Given the description of an element on the screen output the (x, y) to click on. 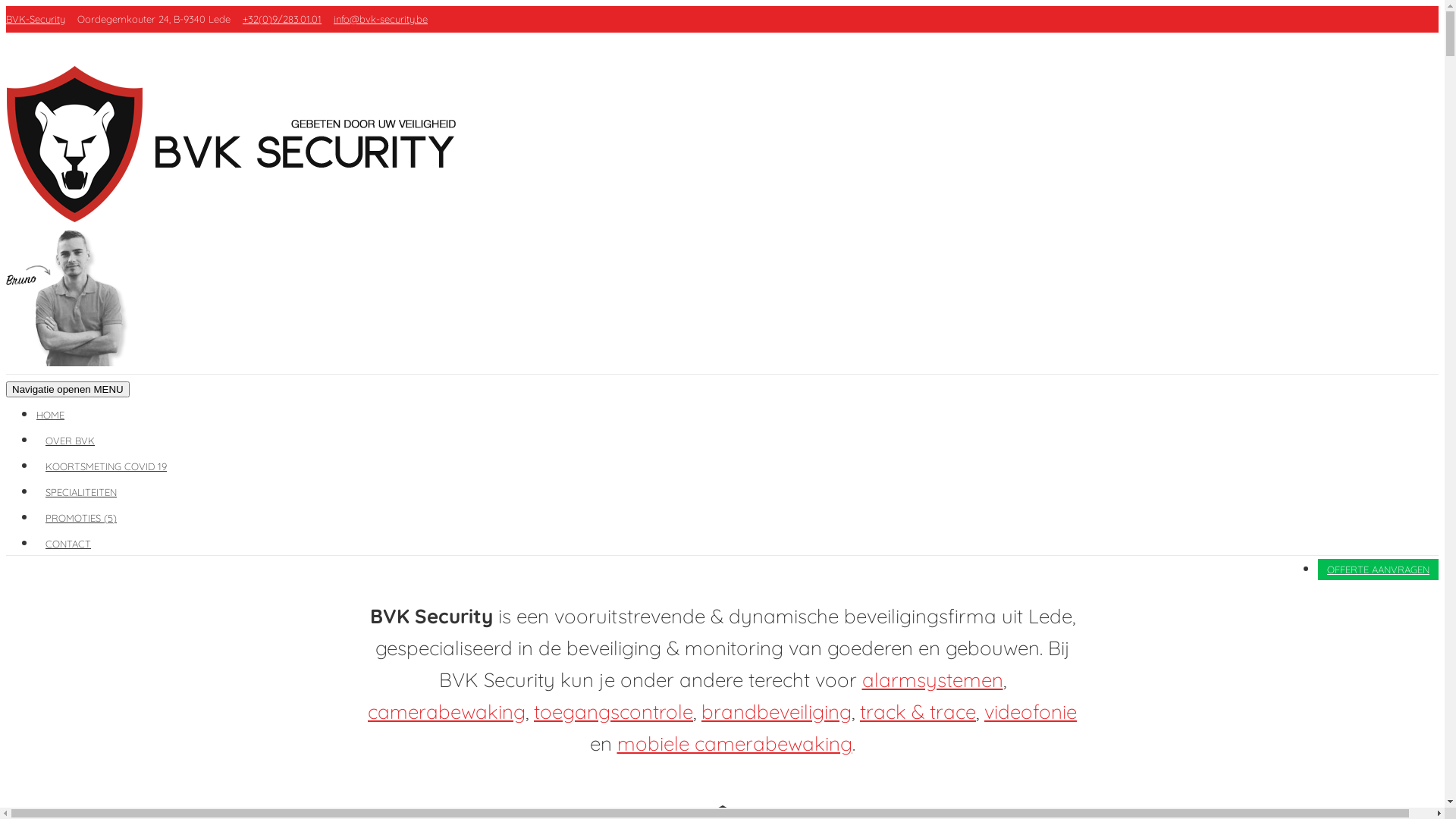
toegangscontrole Element type: text (613, 711)
SPECIALITEITEN Element type: text (80, 491)
PROMOTIES (5) Element type: text (80, 517)
mobiele camerabewaking Element type: text (734, 743)
BVK-Security Wetteren contacteren Element type: hover (75, 360)
CONTACT Element type: text (68, 543)
BVK-Security Beveiligingsfirma Wetteren Element type: hover (239, 216)
track & trace Element type: text (917, 711)
videofonie Element type: text (1030, 711)
+32(0)9/283.01.01 Element type: text (281, 18)
info@bvk-security.be Element type: text (380, 18)
BVK-Security Element type: text (35, 18)
Navigatie openen MENU Element type: text (67, 389)
KOORTSMETING COVID 19 Element type: text (105, 465)
camerabewaking Element type: text (446, 711)
OFFERTE AANVRAGEN Element type: text (1377, 569)
HOME Element type: text (54, 414)
alarmsystemen Element type: text (931, 679)
brandbeveiliging Element type: text (776, 711)
OVER BVK Element type: text (69, 440)
